Given the description of an element on the screen output the (x, y) to click on. 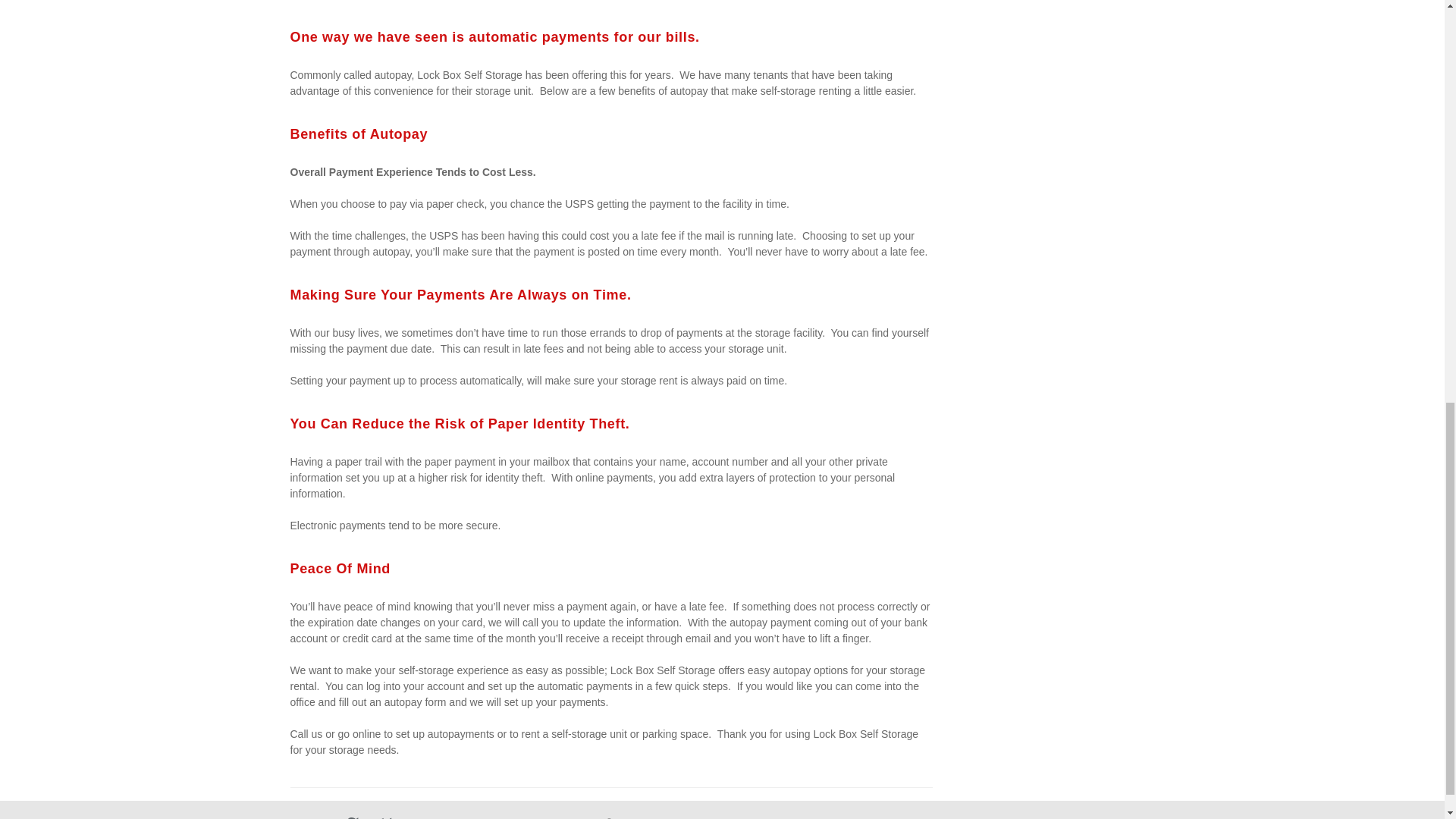
Terms (794, 818)
Admin (1138, 818)
Powered by (344, 818)
Privacy (833, 818)
